Given the description of an element on the screen output the (x, y) to click on. 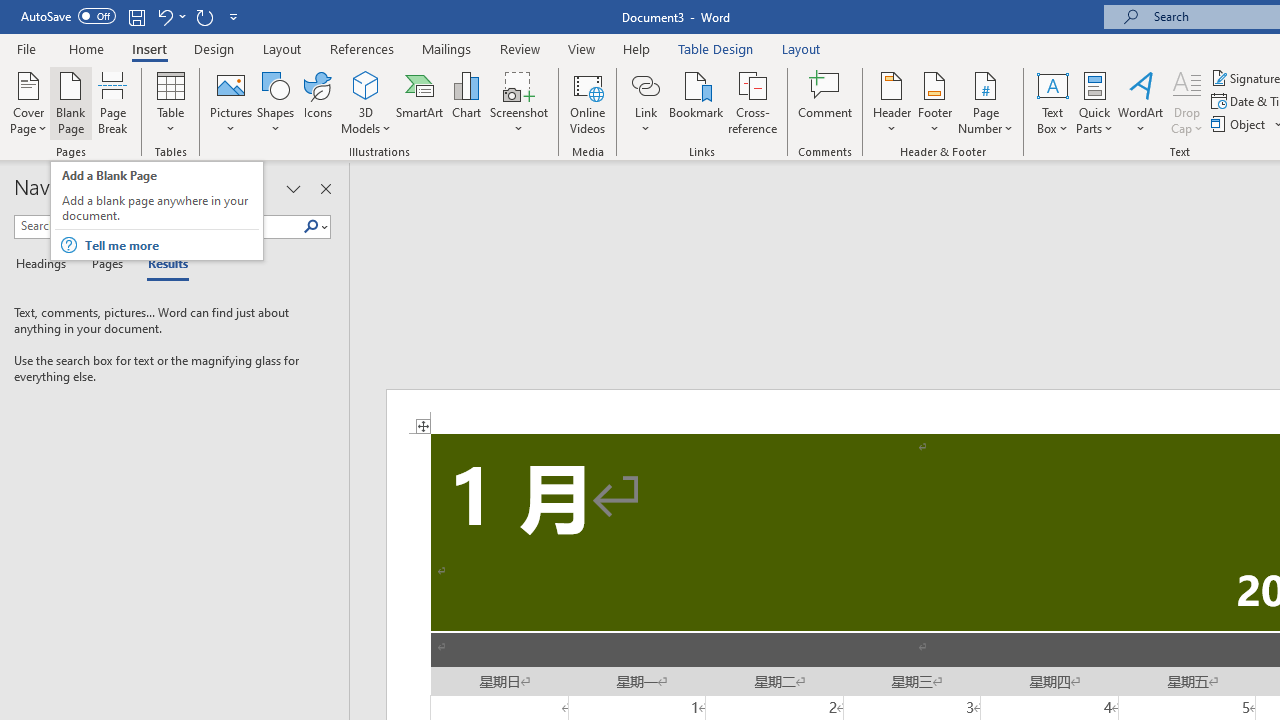
Quick Parts (1094, 102)
SmartArt... (419, 102)
Pictures (230, 102)
Cross-reference... (752, 102)
Chart... (466, 102)
Icons (317, 102)
Blank Page (70, 102)
Footer (934, 102)
Online Videos... (588, 102)
